Given the description of an element on the screen output the (x, y) to click on. 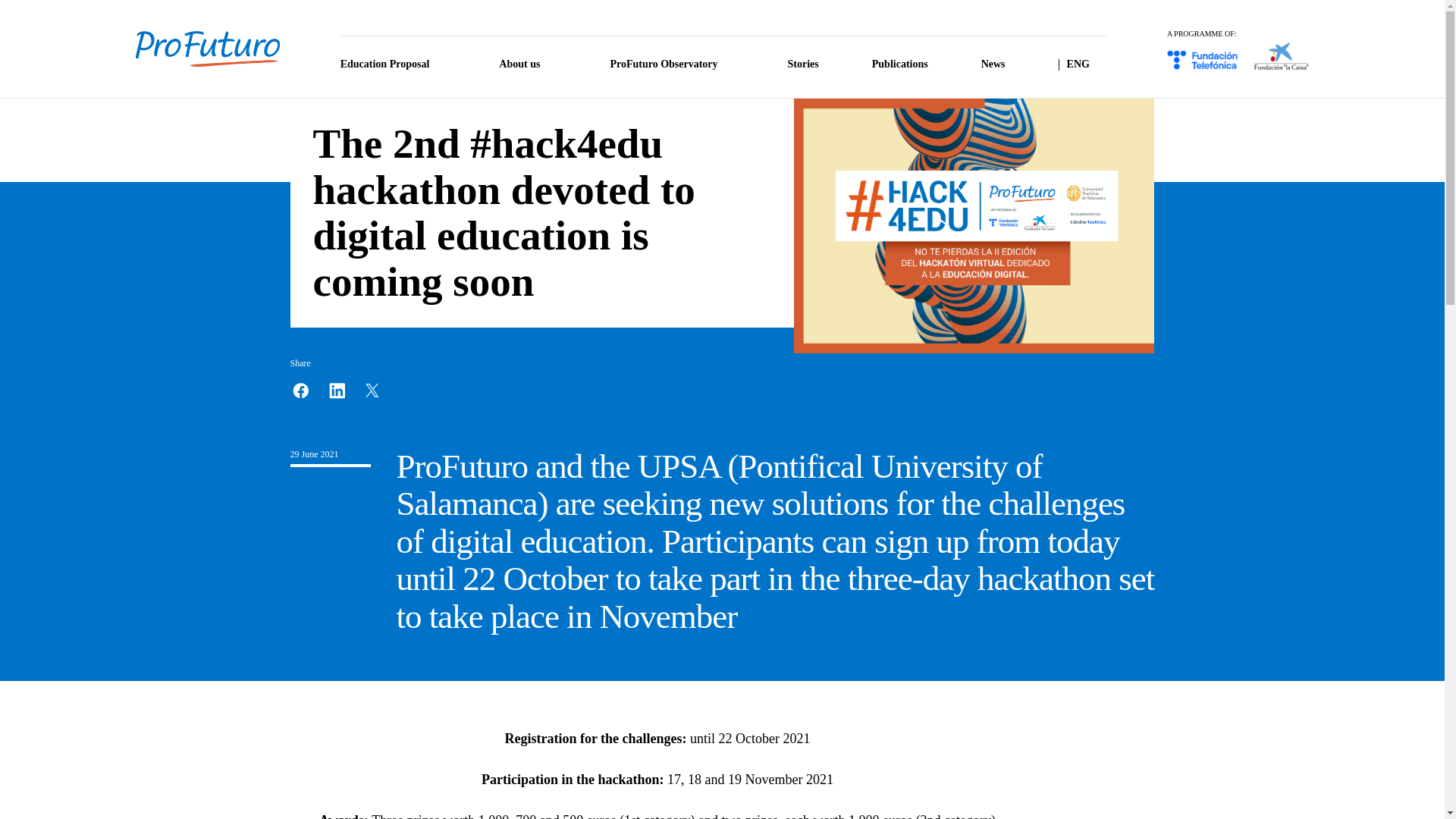
Education Proposal (393, 71)
ProFuturo Observatory (671, 71)
Education Proposal (393, 71)
Publications (900, 71)
ENG (1086, 71)
Stories (802, 71)
News (993, 71)
About us (527, 71)
About us (527, 71)
Profuturo (207, 48)
